Given the description of an element on the screen output the (x, y) to click on. 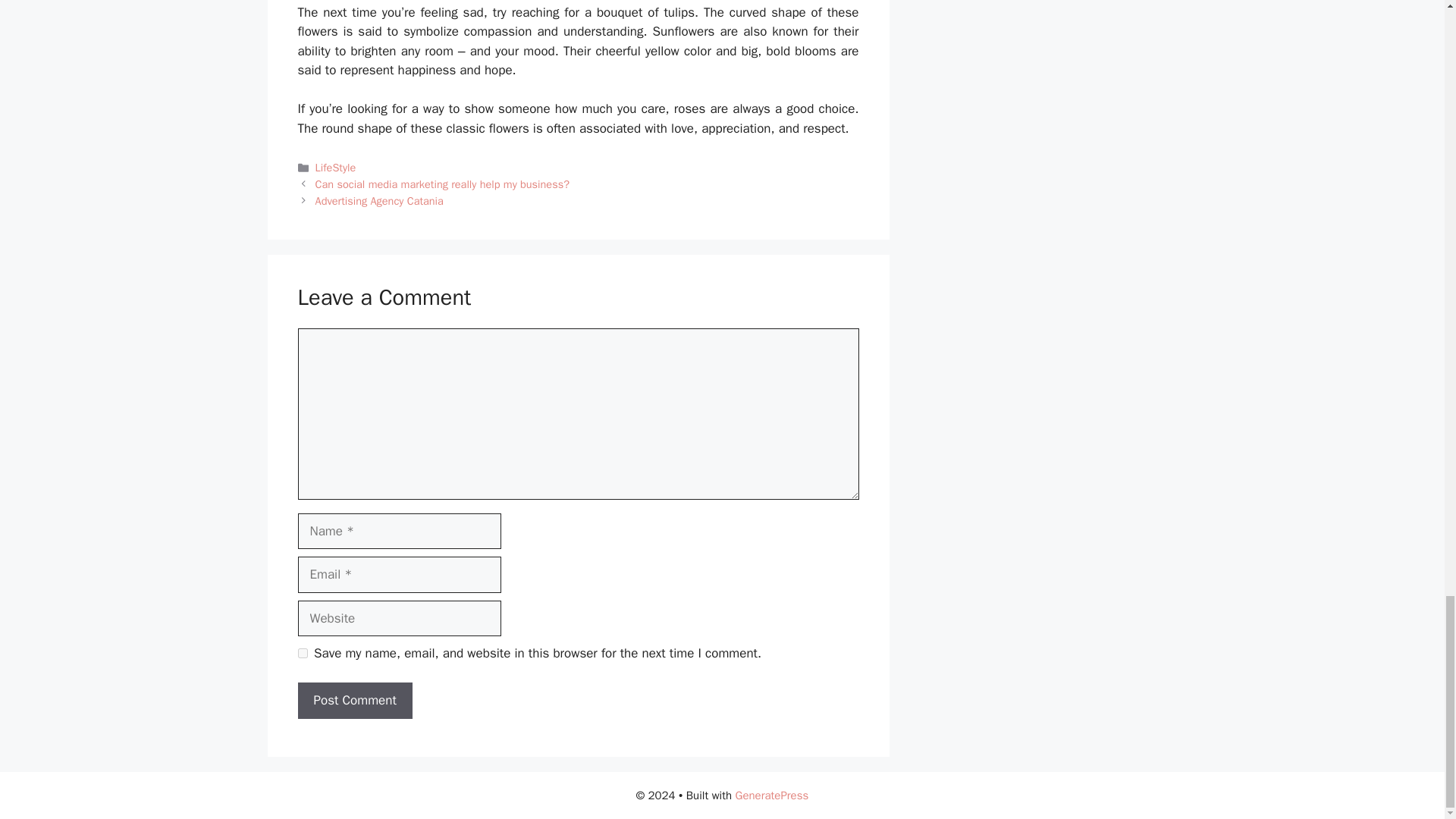
Post Comment (354, 700)
Can social media marketing really help my business? (442, 183)
LifeStyle (335, 167)
yes (302, 653)
Post Comment (354, 700)
Advertising Agency Catania (379, 201)
